Given the description of an element on the screen output the (x, y) to click on. 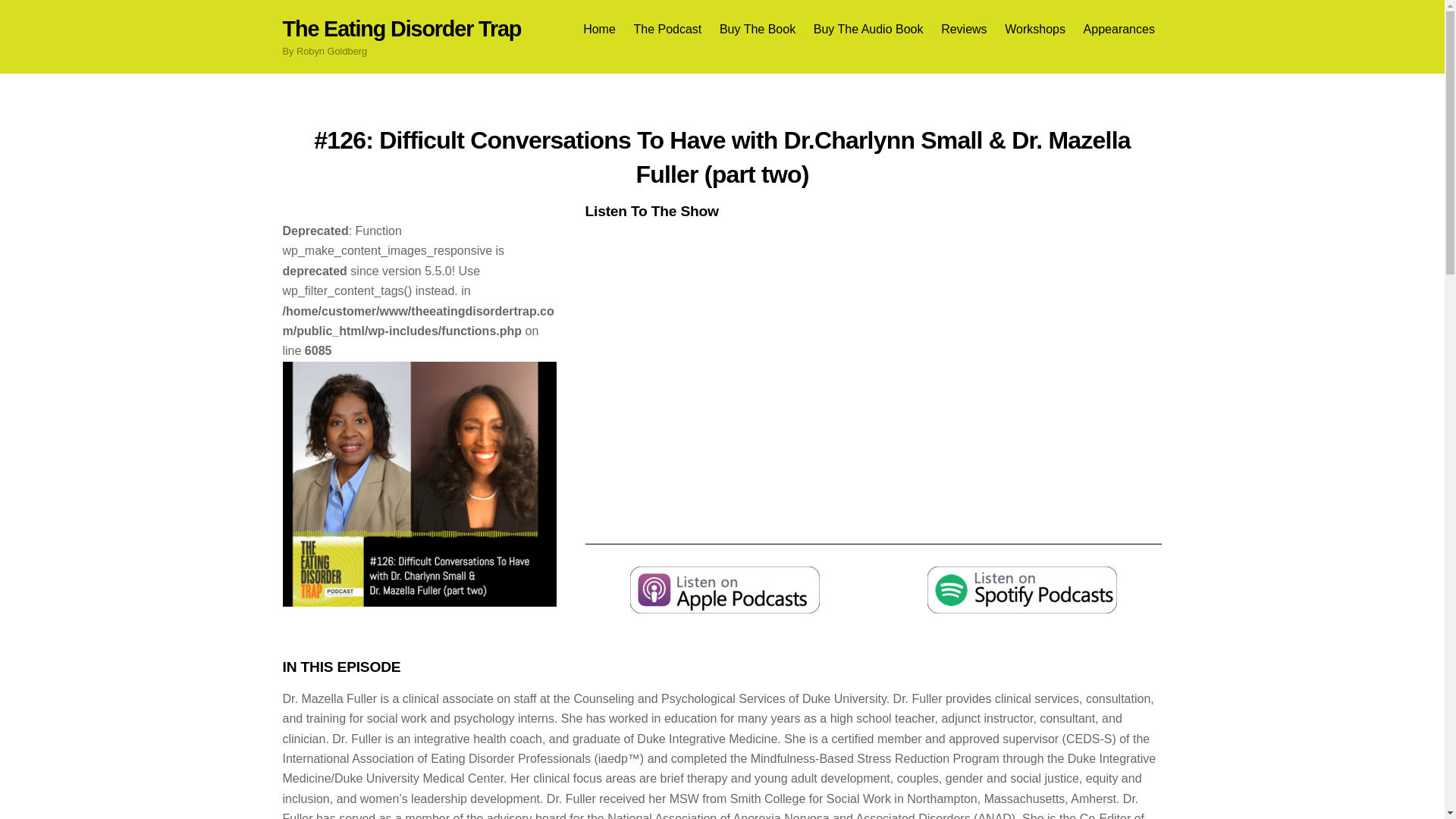
The Eating Disorder Trap (401, 28)
Buy The Book (756, 29)
Reviews (964, 29)
The Podcast (667, 29)
The Eating Disorder Trap (401, 28)
Workshops (1035, 29)
Appearances (1118, 29)
Home (599, 29)
Buy The Audio Book (868, 29)
